Given the description of an element on the screen output the (x, y) to click on. 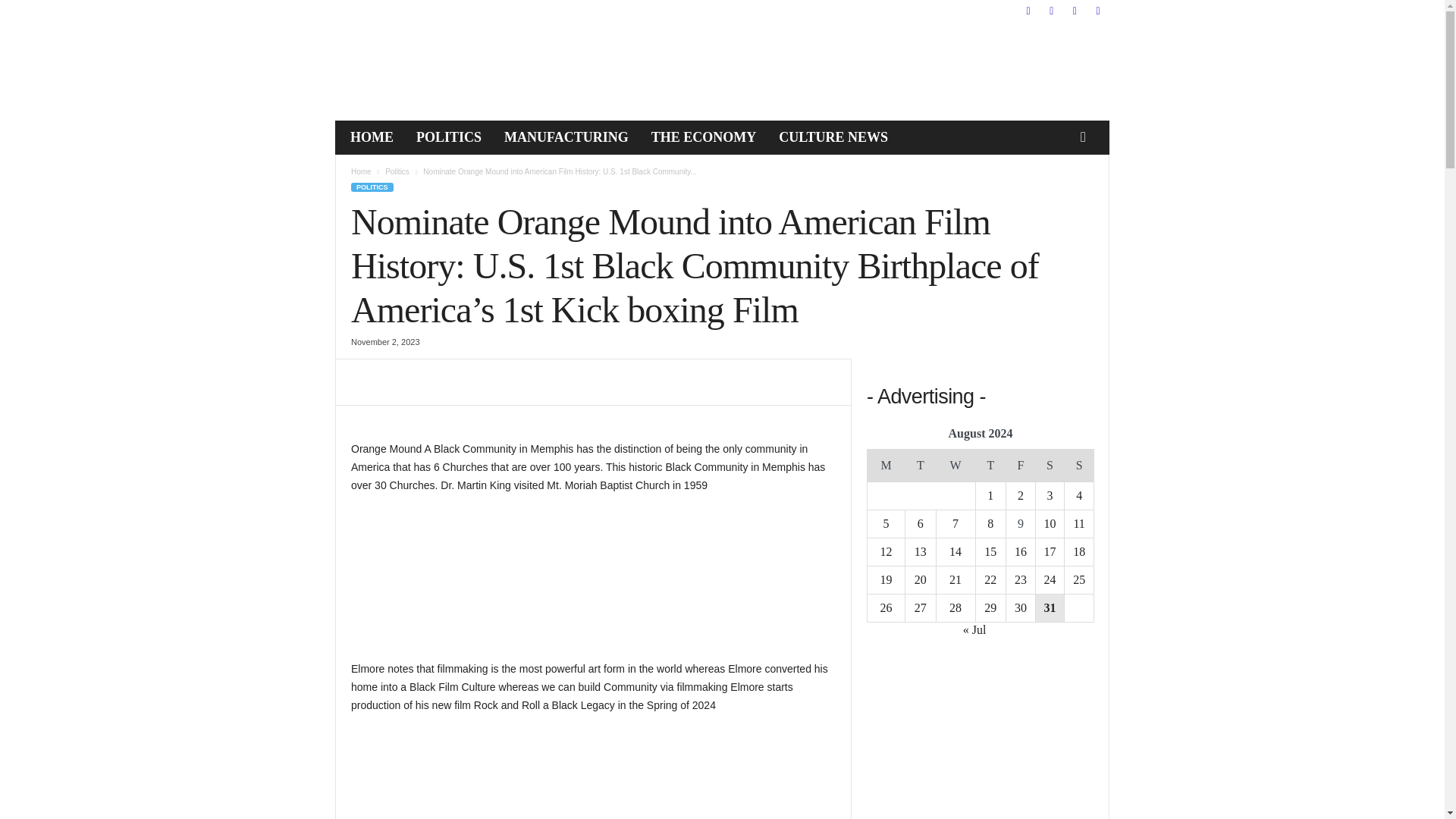
THE ECONOMY (704, 136)
Politics (397, 171)
View all posts in Politics (397, 171)
Home (360, 171)
POLITICS (371, 186)
News Abc (437, 70)
POLITICS (448, 136)
News ABC (437, 71)
HOME (371, 136)
CULTURE NEWS (833, 136)
